Given the description of an element on the screen output the (x, y) to click on. 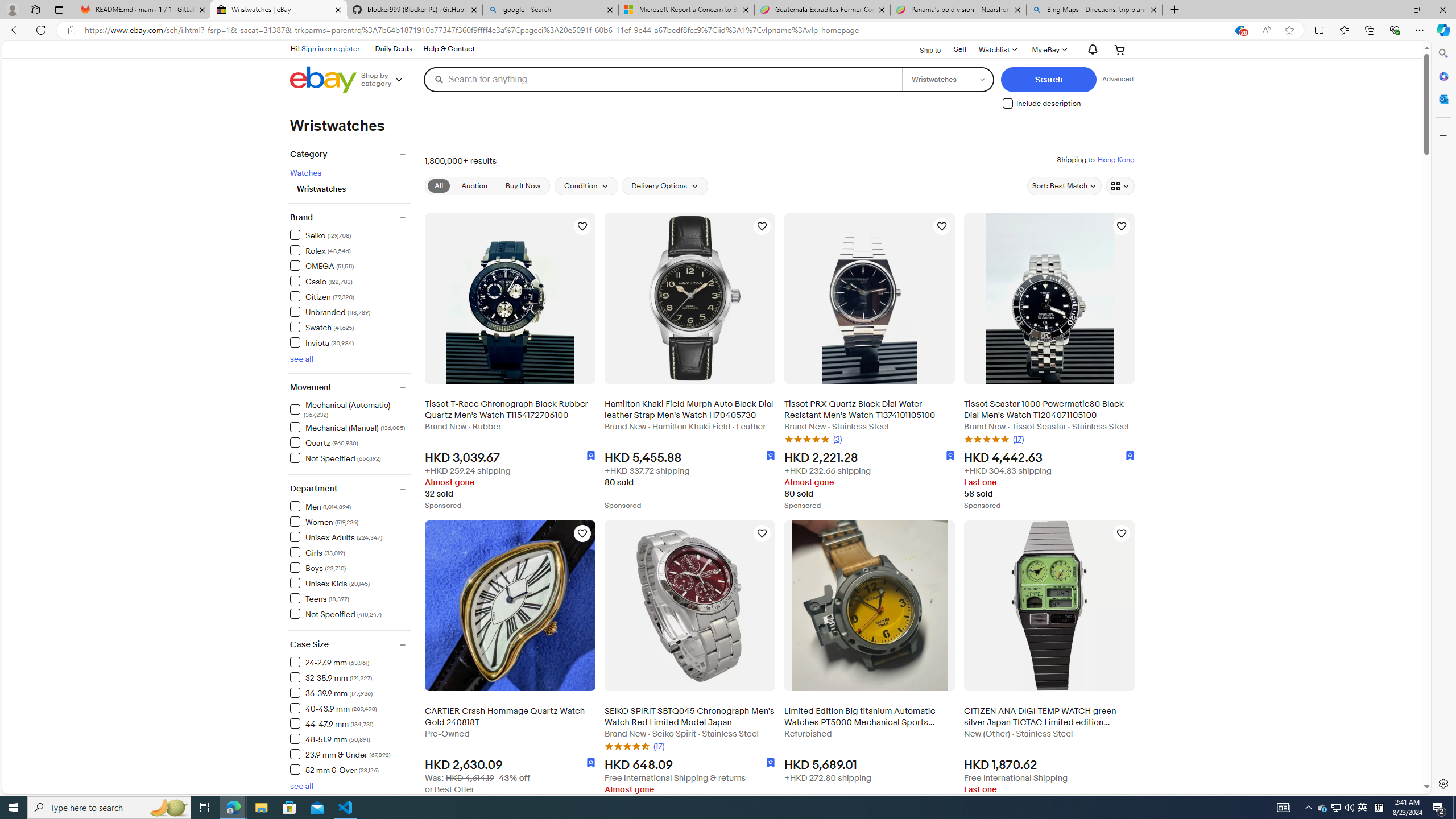
Teens(18,397) Items (349, 598)
Daily Deals (392, 49)
Boys(23,710) Items (349, 566)
Shipping toHong Kong (1095, 159)
WatchesSelected categoryWristwatches (349, 179)
Help & Contact (448, 49)
